Given the description of an element on the screen output the (x, y) to click on. 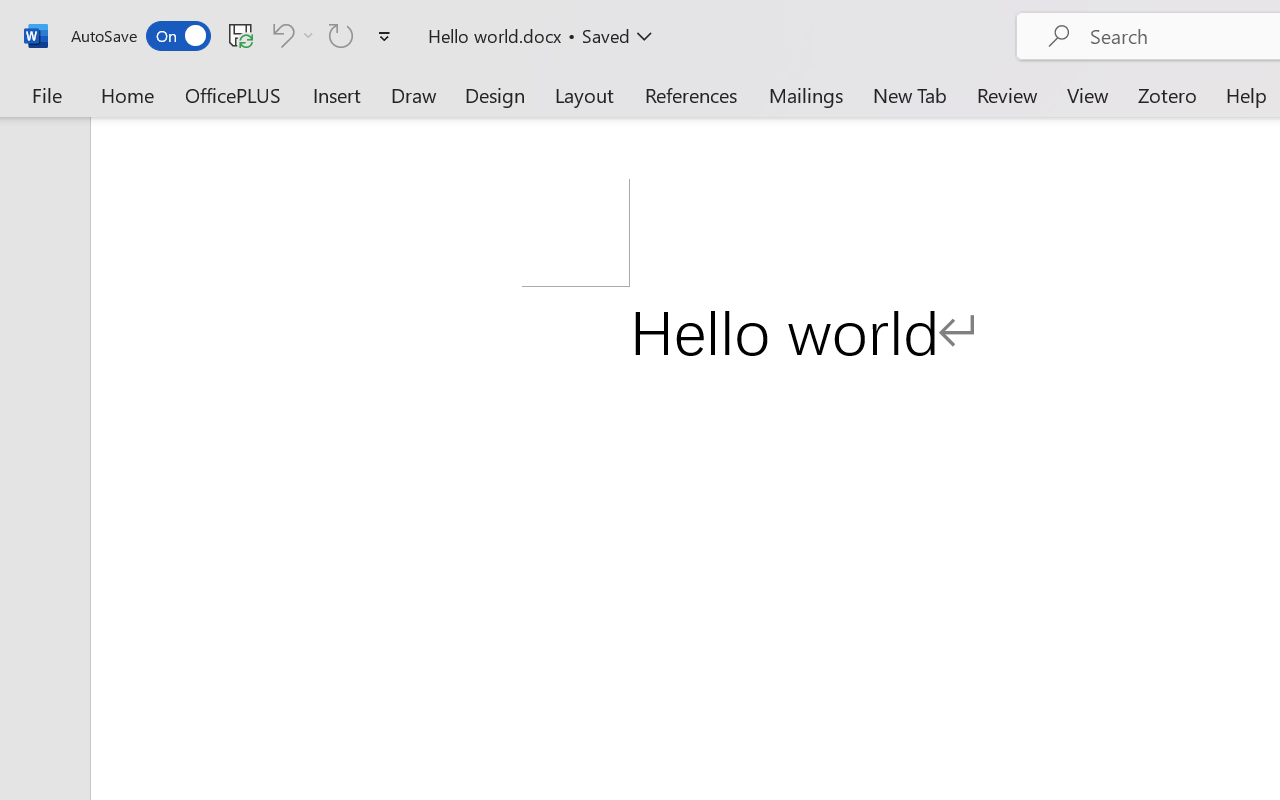
Design (495, 94)
Review (1007, 94)
Mailings (806, 94)
Draw (413, 94)
Insert (337, 94)
Can't Undo (290, 35)
Layout (584, 94)
File Tab (46, 94)
New Tab (909, 94)
